Given the description of an element on the screen output the (x, y) to click on. 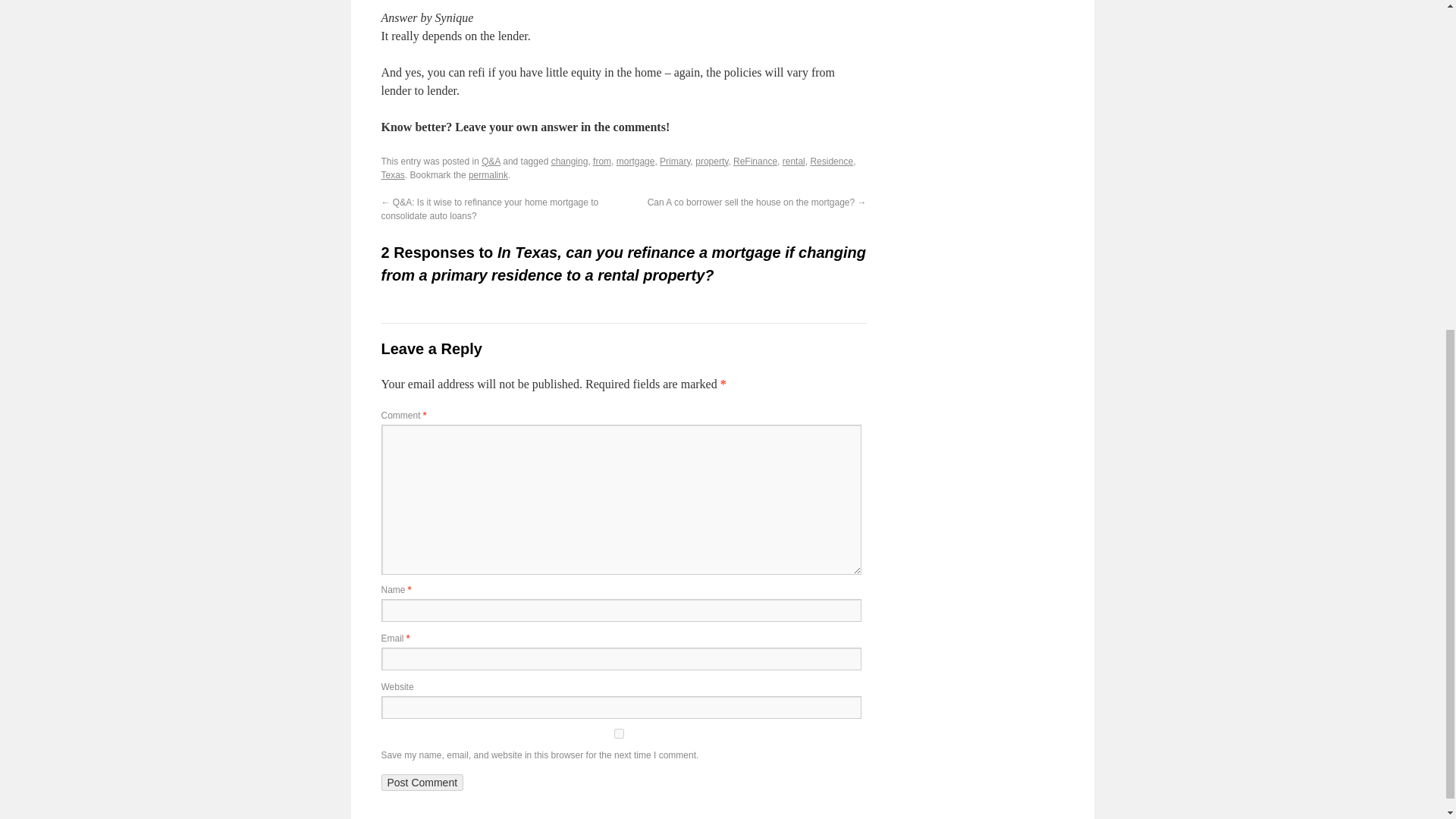
rental (794, 161)
mortgage (635, 161)
property (711, 161)
from (601, 161)
ReFinance (755, 161)
Texas (392, 174)
yes (618, 733)
Post Comment (421, 782)
Post Comment (421, 782)
permalink (488, 174)
